Given the description of an element on the screen output the (x, y) to click on. 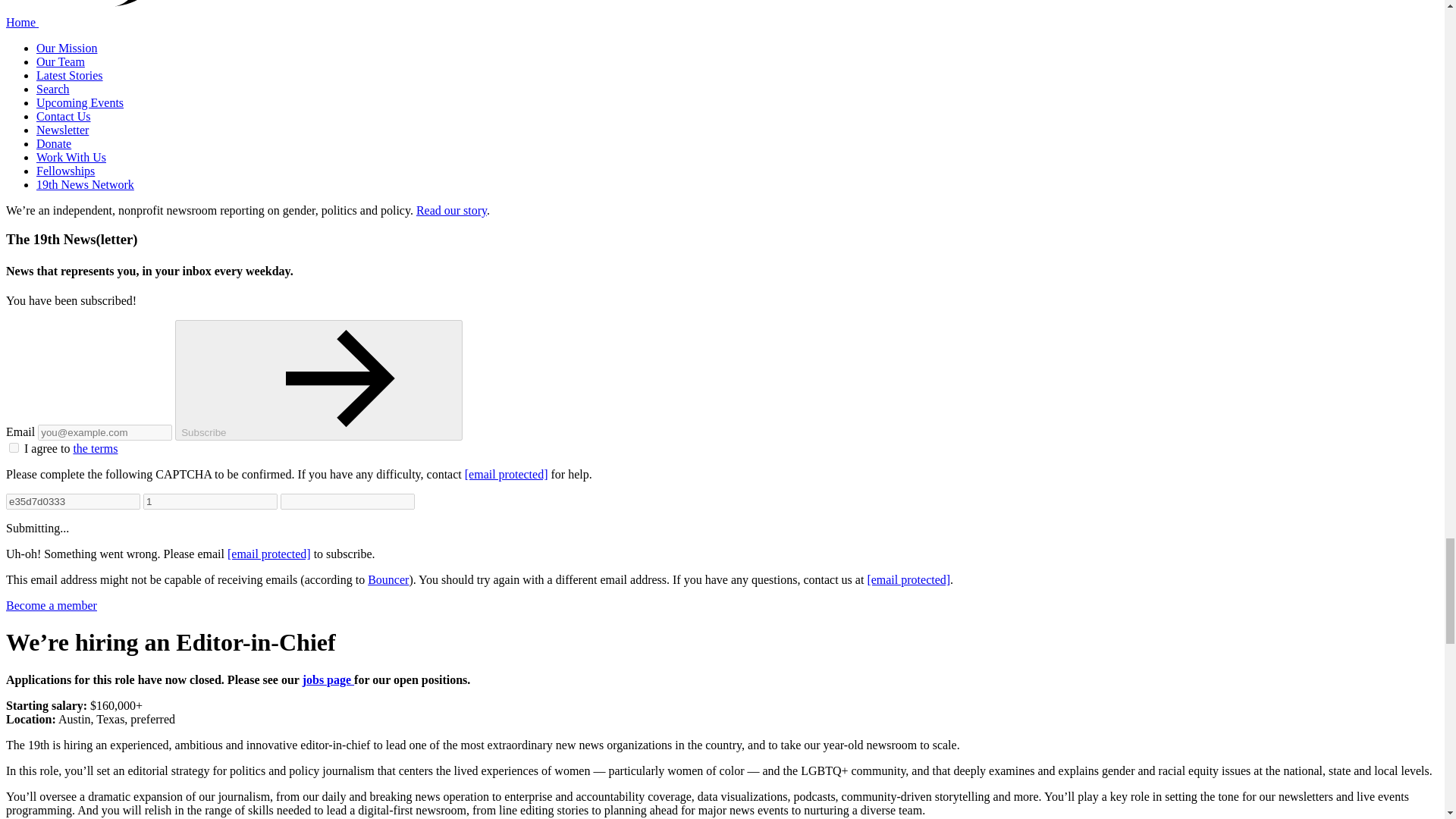
on (13, 447)
e35d7d0333 (72, 501)
1 (210, 501)
